Given the description of an element on the screen output the (x, y) to click on. 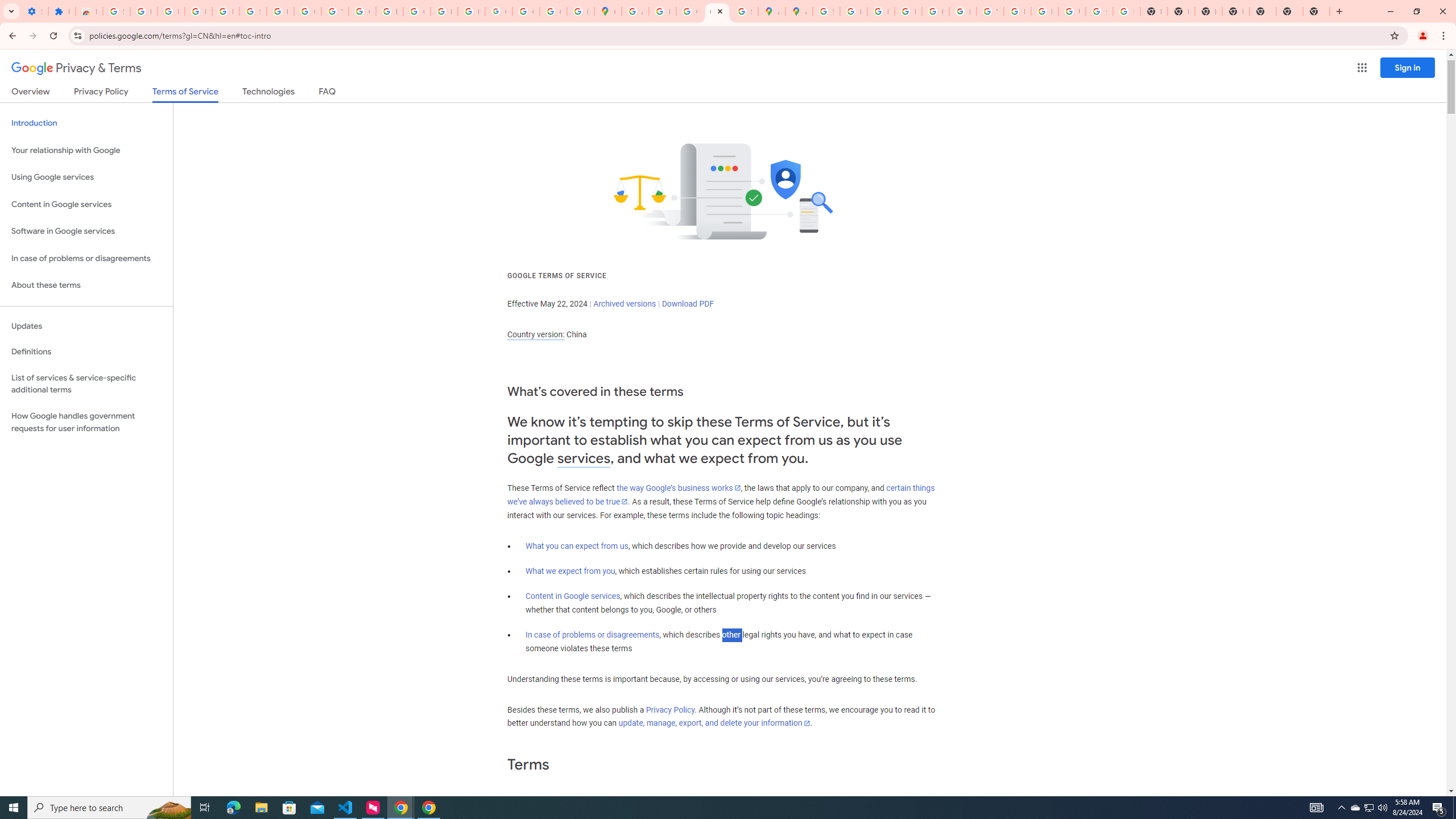
YouTube (990, 11)
Archived versions (624, 303)
Google Maps (607, 11)
How Google handles government requests for user information (86, 422)
List of services & service-specific additional terms (86, 383)
Terms of Service (184, 94)
New Tab (1289, 11)
What we expect from you (570, 570)
